Given the description of an element on the screen output the (x, y) to click on. 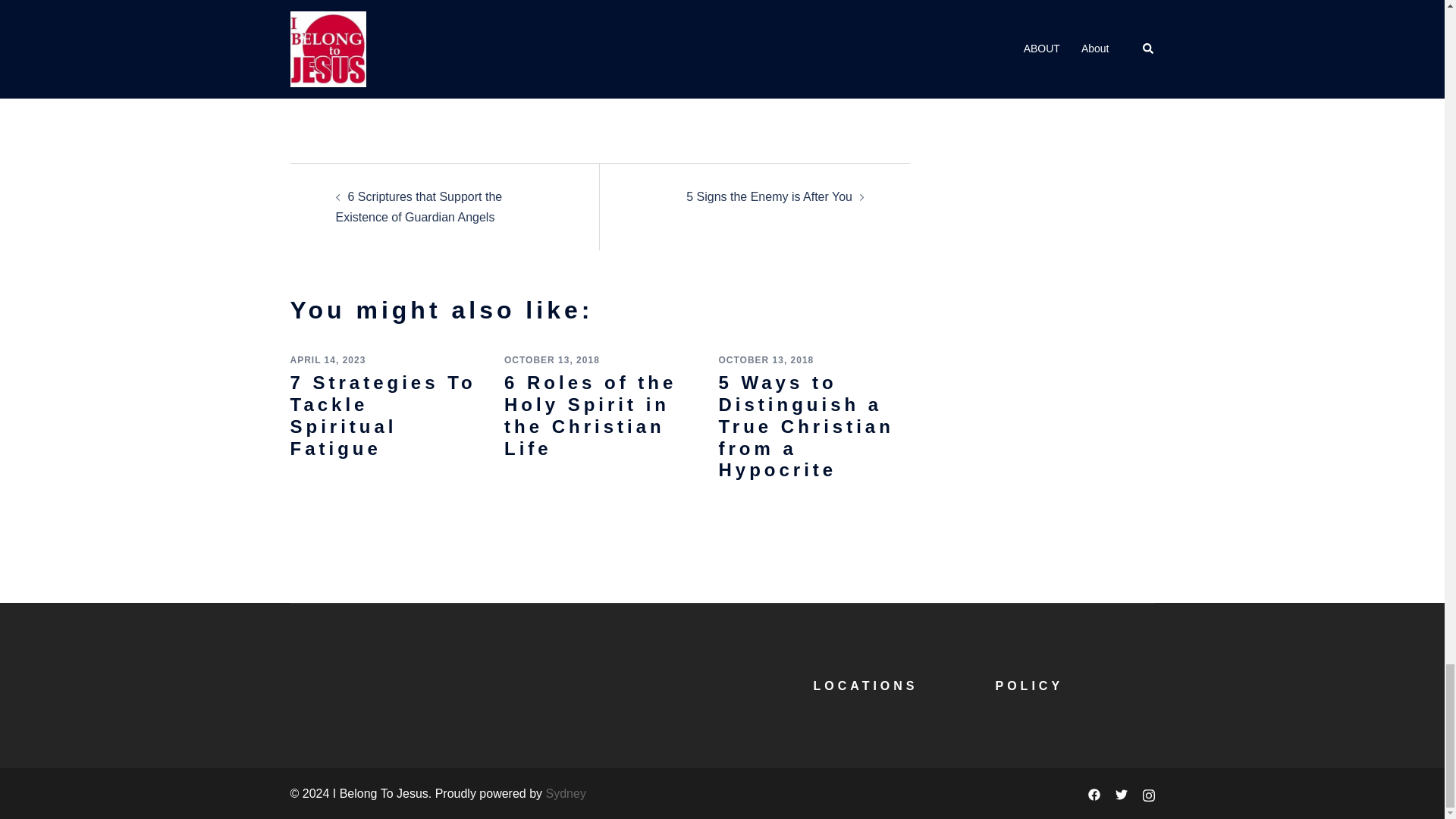
6 Roles of the Holy Spirit in the Christian Life (590, 414)
6 Scriptures that Support the Existence of Guardian Angels (418, 206)
OCTOBER 13, 2018 (765, 359)
7 Strategies To Tackle Spiritual Fatigue (382, 414)
5 Ways to Distinguish a True Christian from a Hypocrite (805, 425)
5 Signs the Enemy is After You (768, 196)
APRIL 14, 2023 (327, 359)
OCTOBER 13, 2018 (551, 359)
